Given the description of an element on the screen output the (x, y) to click on. 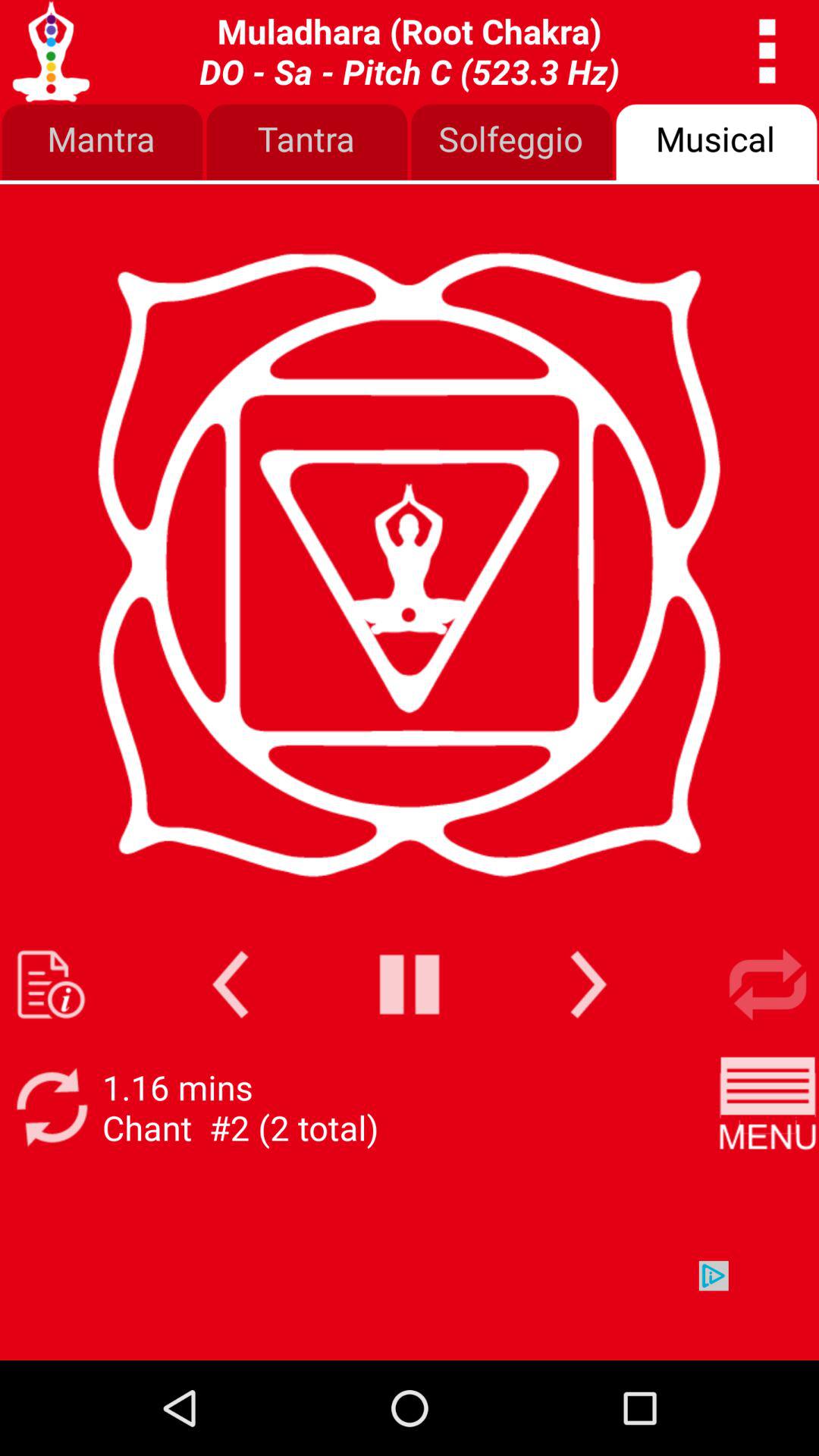
select image (767, 1107)
